Given the description of an element on the screen output the (x, y) to click on. 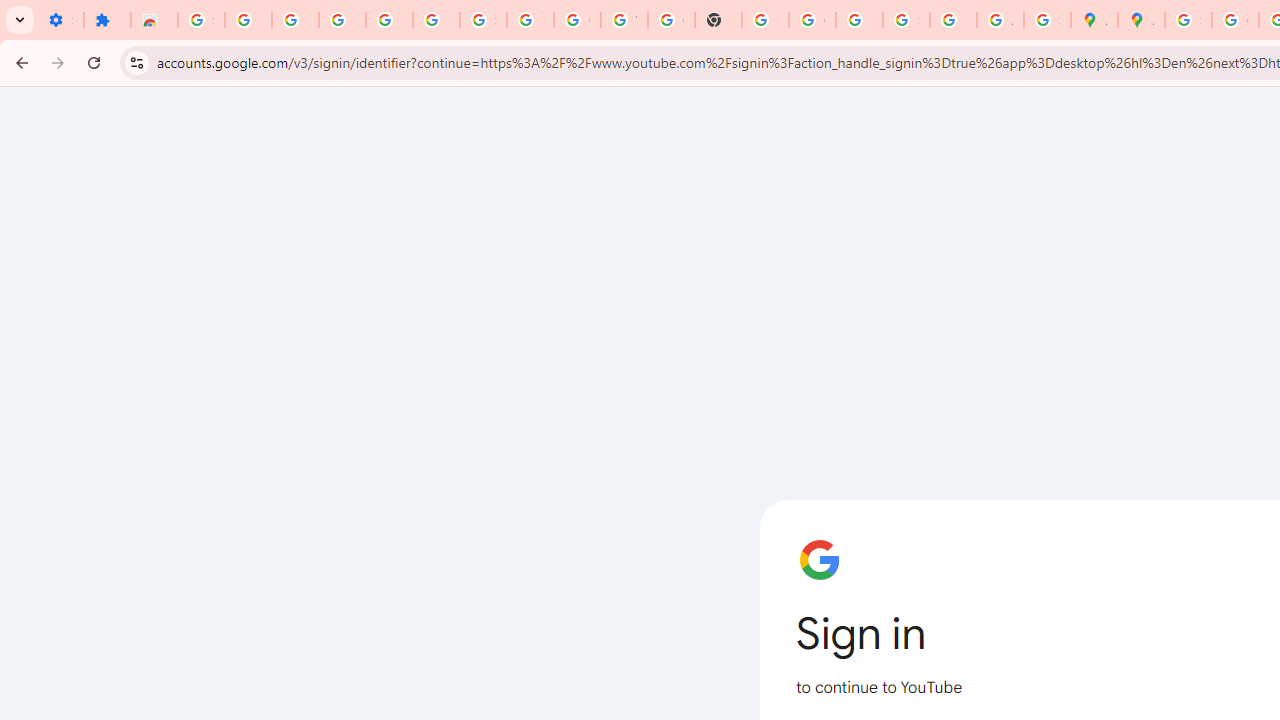
Reviews: Helix Fruit Jump Arcade Game (153, 20)
Sign in - Google Accounts (906, 20)
https://scholar.google.com/ (765, 20)
Safety in Our Products - Google Safety Center (1047, 20)
YouTube (623, 20)
Settings - On startup (60, 20)
Google Account (577, 20)
Learn how to find your photos - Google Photos Help (389, 20)
